Given the description of an element on the screen output the (x, y) to click on. 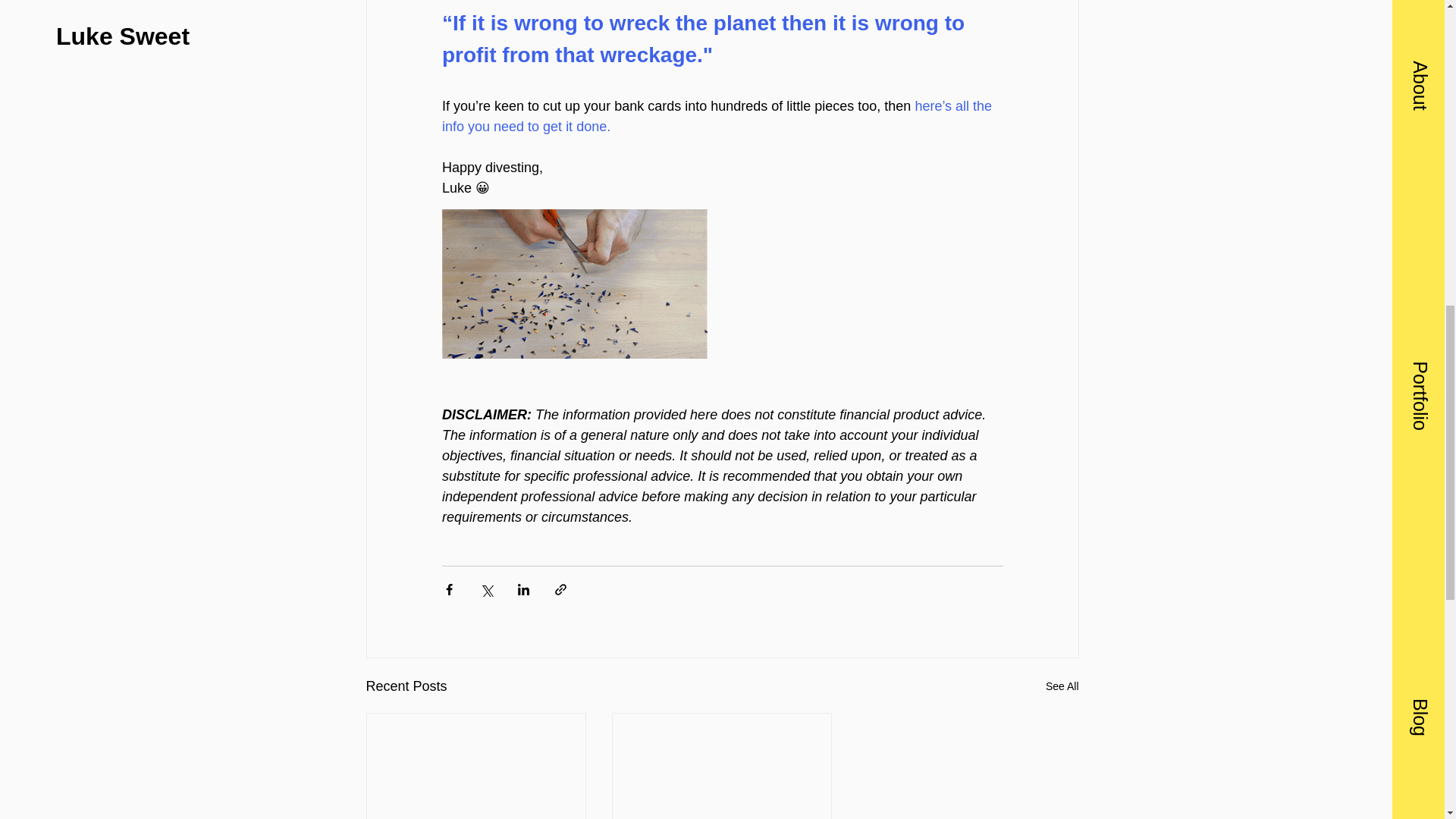
See All (1061, 686)
